Given the description of an element on the screen output the (x, y) to click on. 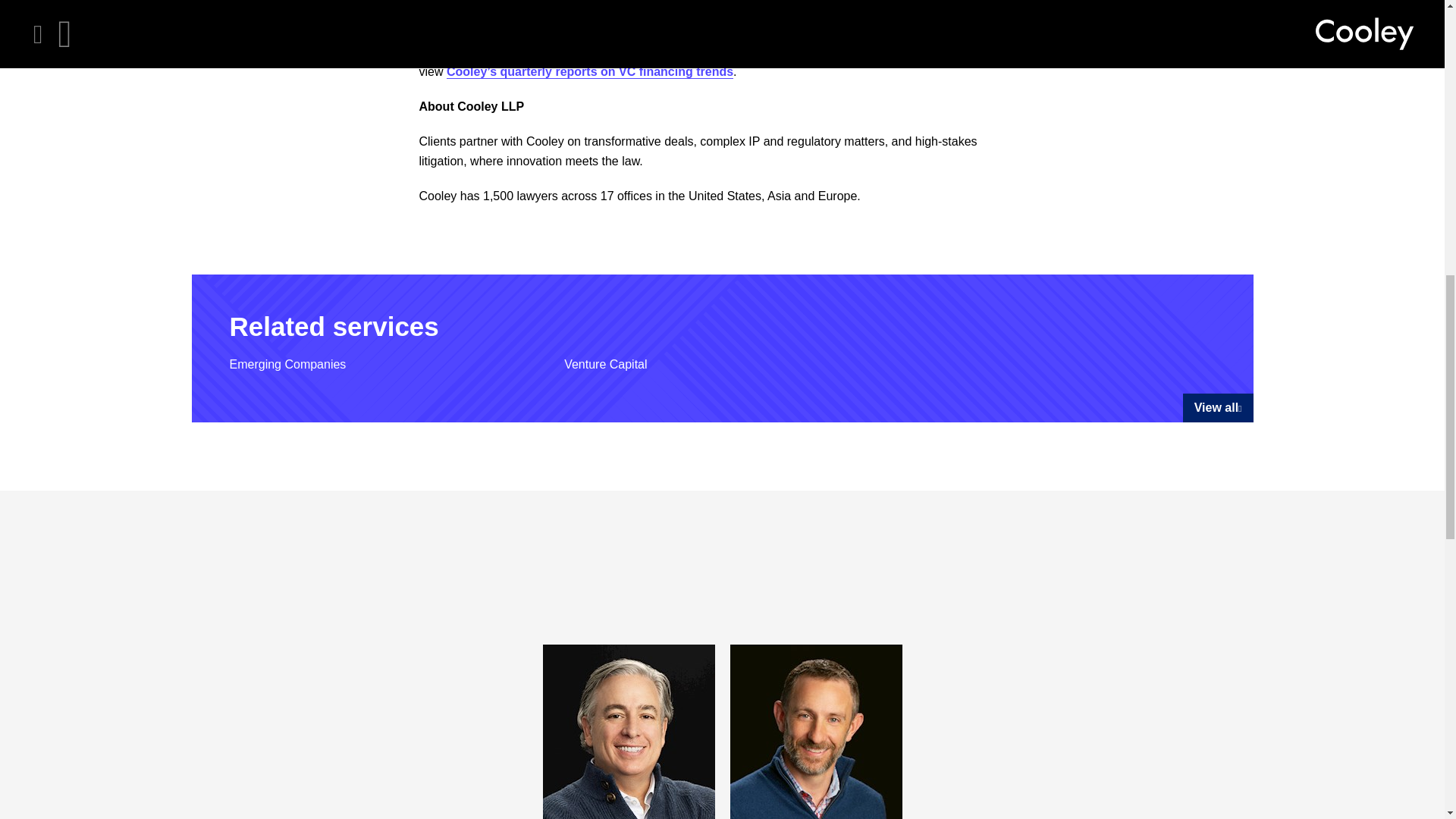
Venture Capital (605, 364)
View all (1217, 407)
Emerging Companies (287, 364)
Cooley Protect (707, 22)
